Given the description of an element on the screen output the (x, y) to click on. 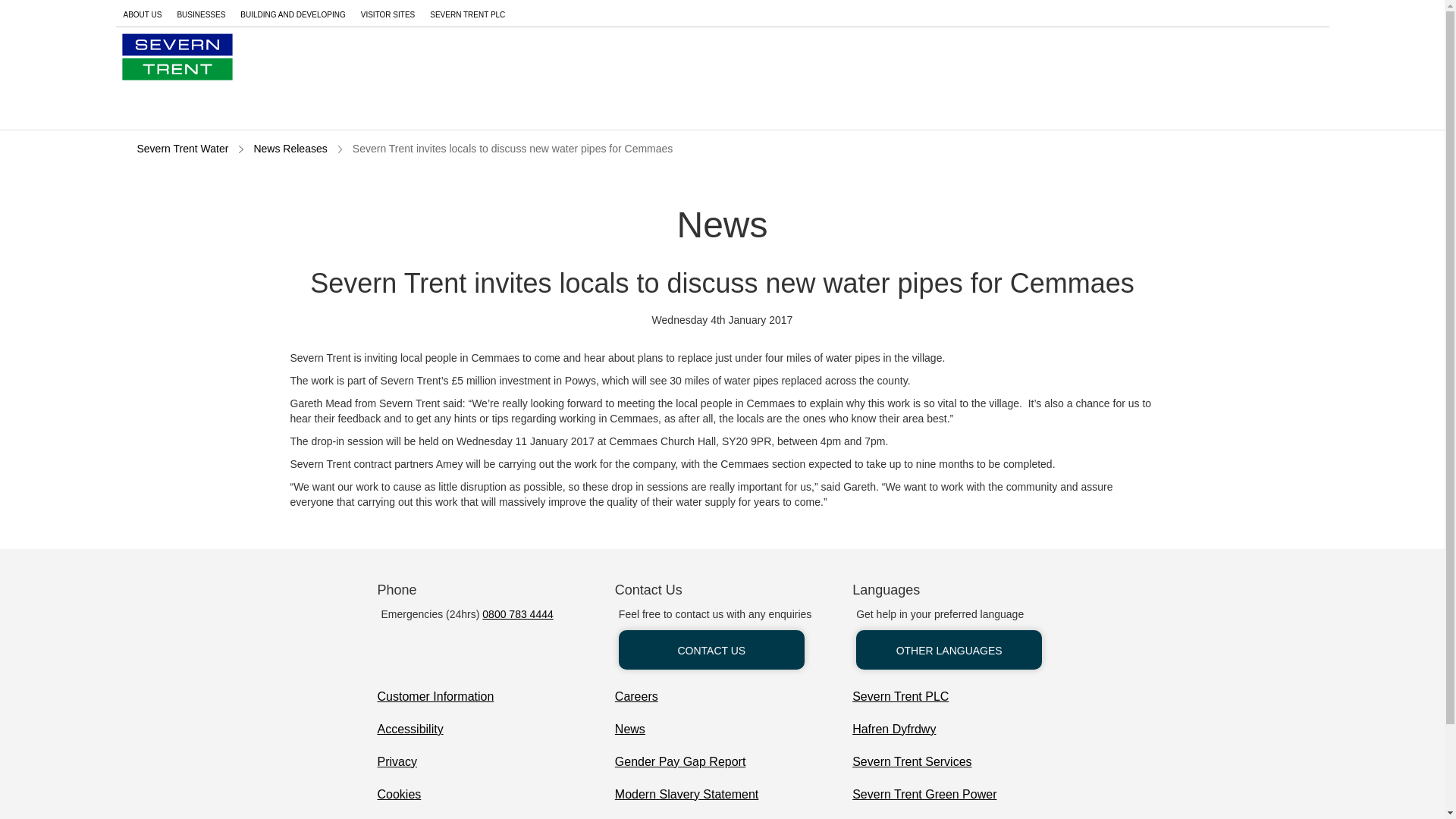
Careers (636, 696)
News Releases (289, 149)
VISITOR SITES (388, 13)
Severn Trent Water (182, 149)
Hafren Dyfrdwy (893, 729)
SEVERN TRENT PLC (467, 13)
Accessibility (410, 729)
News (629, 729)
Severn Trent PLC (900, 696)
BUILDING AND DEVELOPING (292, 13)
Gender Pay Gap Report (679, 762)
Modern Slavery Statement (686, 794)
CONTACT US (711, 649)
Privacy (396, 762)
